Given the description of an element on the screen output the (x, y) to click on. 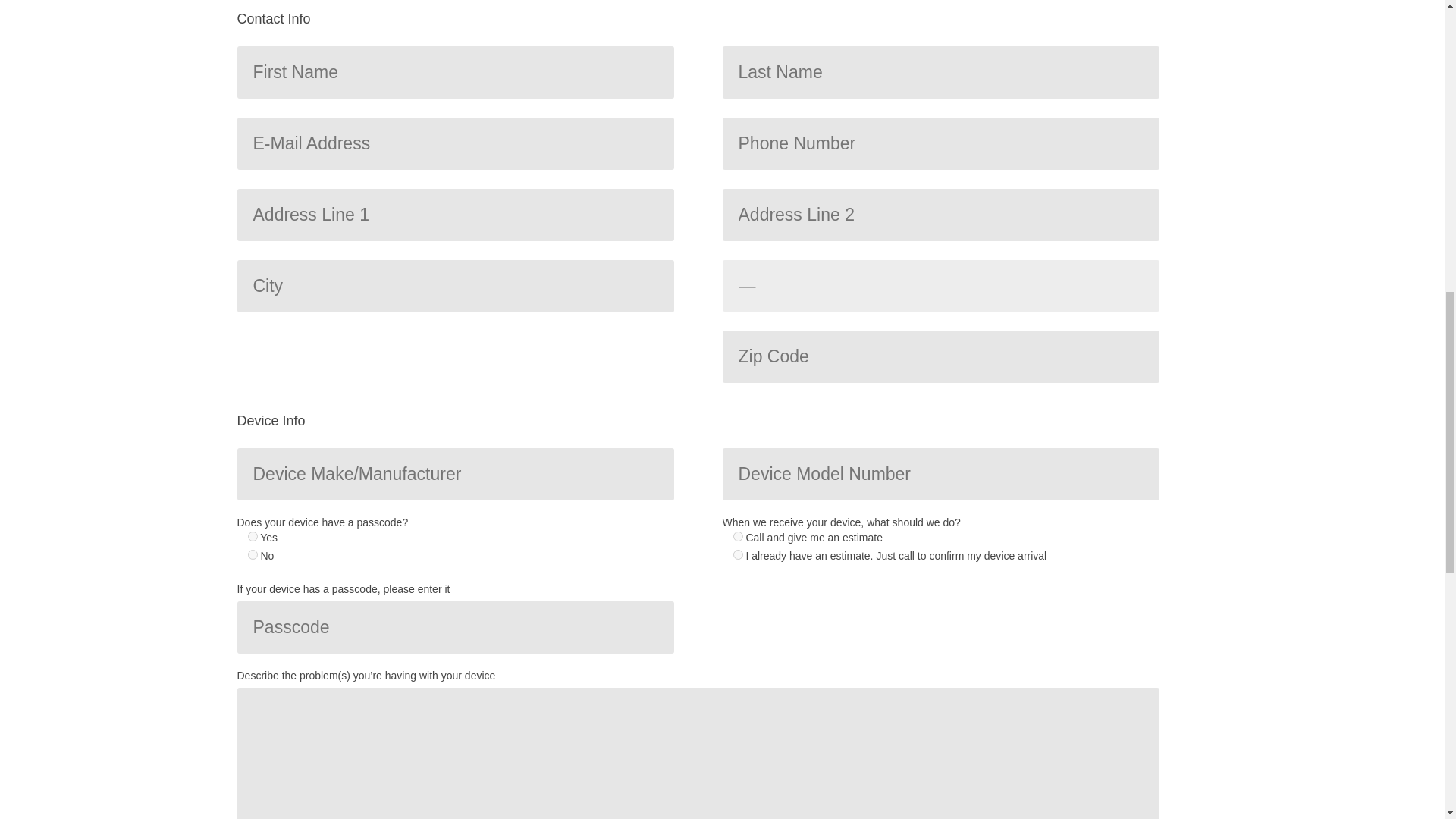
Call and give me an estimate (737, 536)
Yes (252, 536)
No (252, 554)
